Given the description of an element on the screen output the (x, y) to click on. 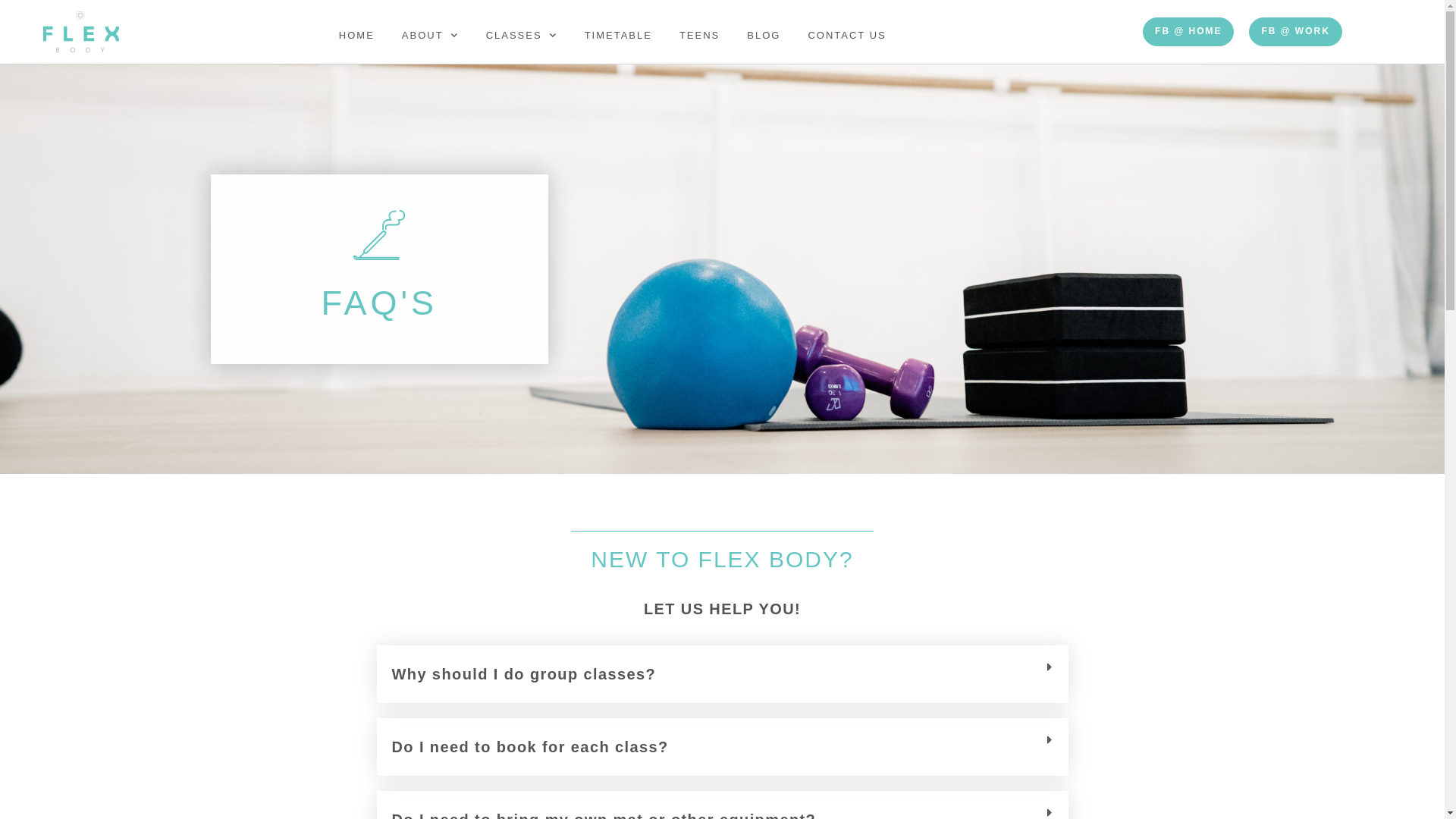
TIMETABLE Element type: text (618, 35)
CONTACT US Element type: text (846, 35)
Do I need to book for each class? Element type: text (529, 746)
HOME Element type: text (356, 35)
ABOUT Element type: text (430, 35)
BLOG Element type: text (763, 35)
TEENS Element type: text (699, 35)
FB @ WORK Element type: text (1294, 31)
FB @ HOME Element type: text (1187, 31)
CLASSES Element type: text (521, 35)
Why should I do group classes? Element type: text (523, 673)
